Given the description of an element on the screen output the (x, y) to click on. 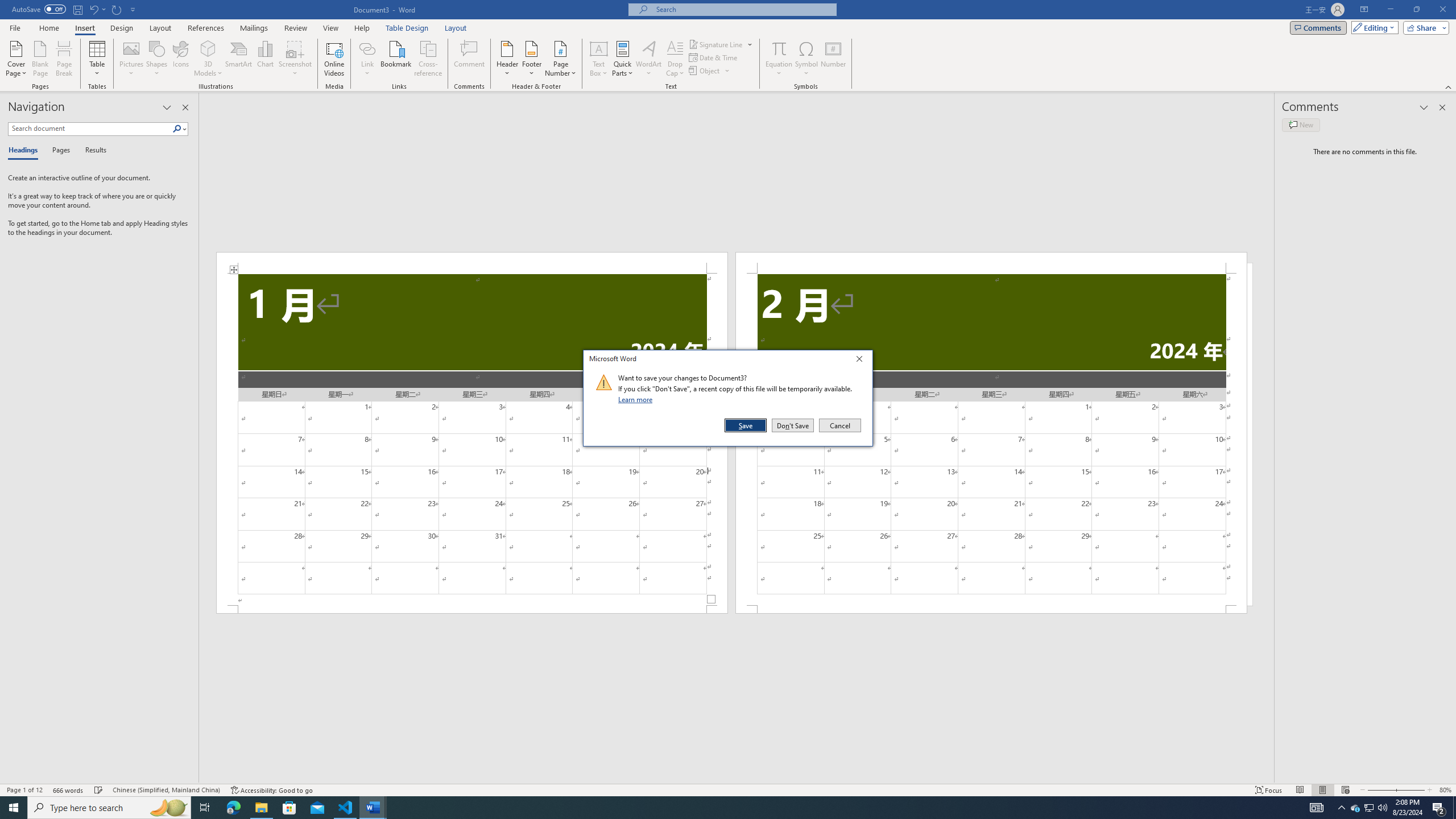
Footer (1368, 807)
Quick Access Toolbar (531, 58)
AutomationID: 4105 (74, 9)
Microsoft search (1316, 807)
Mode (742, 9)
Microsoft Edge (1372, 27)
Signature Line (233, 807)
Cancel (721, 44)
Comment (839, 425)
Header (469, 58)
Start (507, 58)
Don't Save (13, 807)
